Given the description of an element on the screen output the (x, y) to click on. 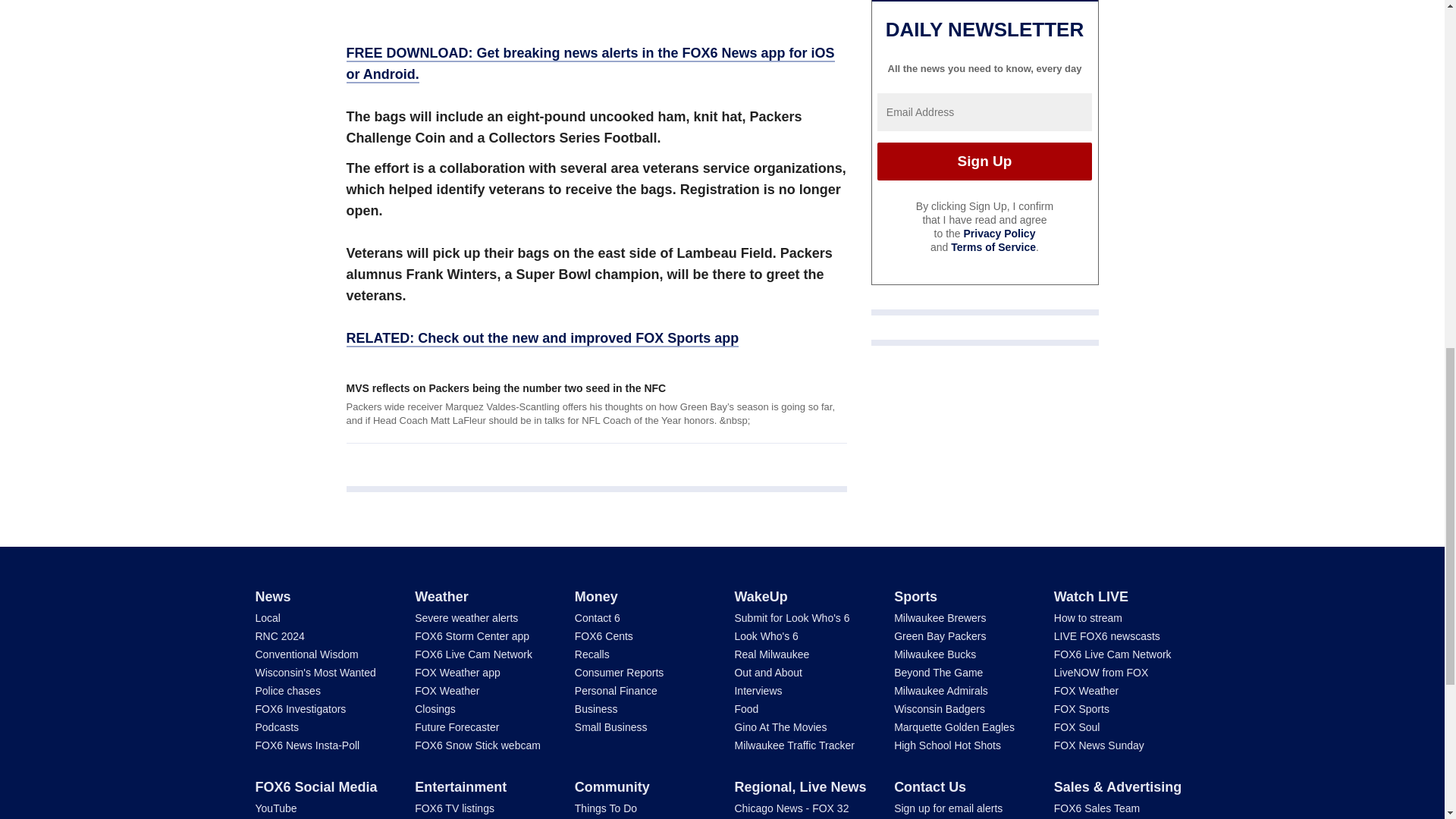
Sign Up (984, 161)
